Given the description of an element on the screen output the (x, y) to click on. 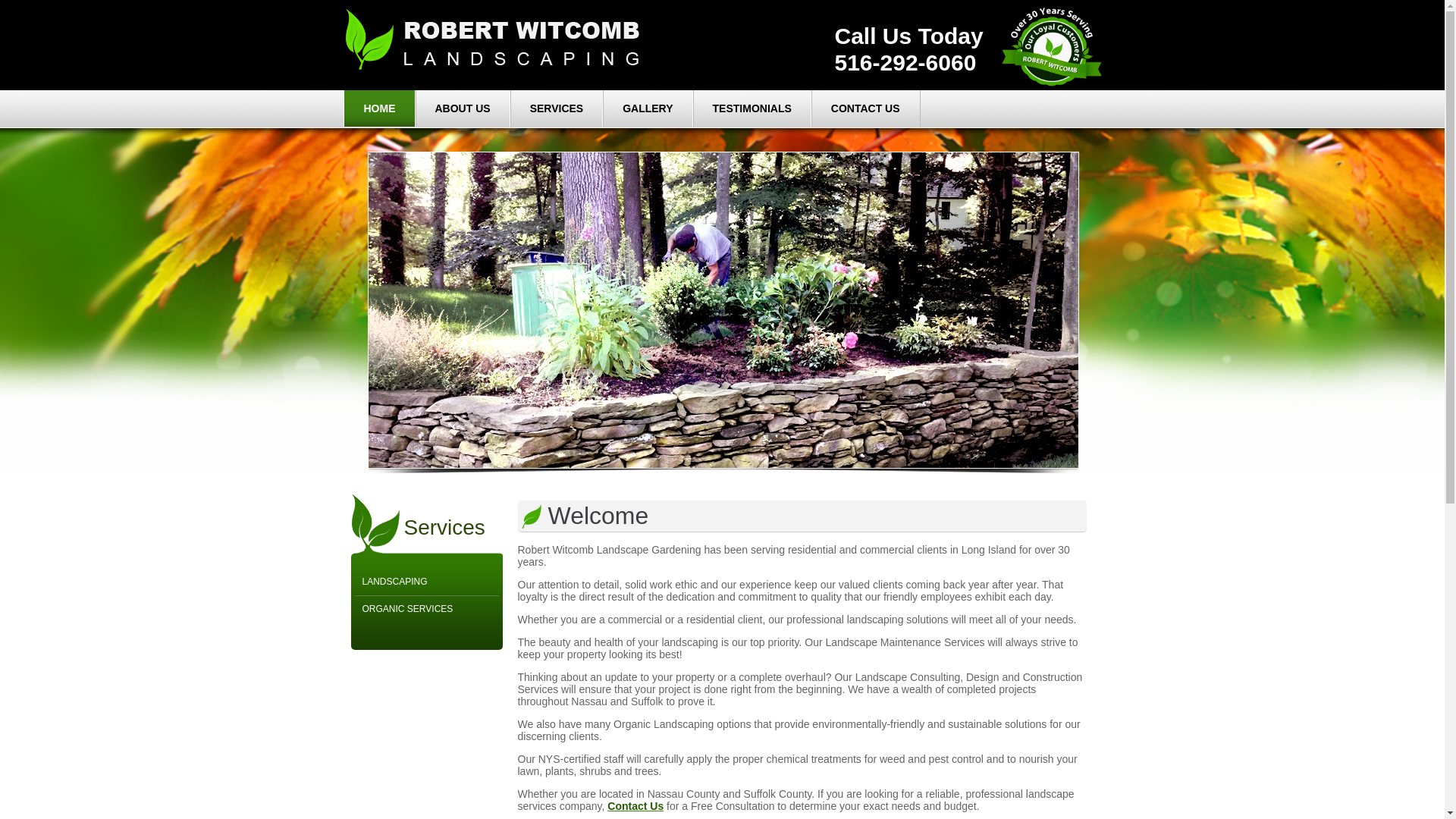
Organic Services (427, 608)
Testimonials (752, 108)
Landscaping (427, 581)
SERVICES (556, 108)
ABOUT US (462, 108)
Gallery (647, 108)
HOME (378, 108)
CONTACT US (865, 108)
About Us (462, 108)
ORGANIC SERVICES (427, 608)
Services (556, 108)
GALLERY (647, 108)
Contact Us (865, 108)
TESTIMONIALS (752, 108)
LANDSCAPING (427, 581)
